Given the description of an element on the screen output the (x, y) to click on. 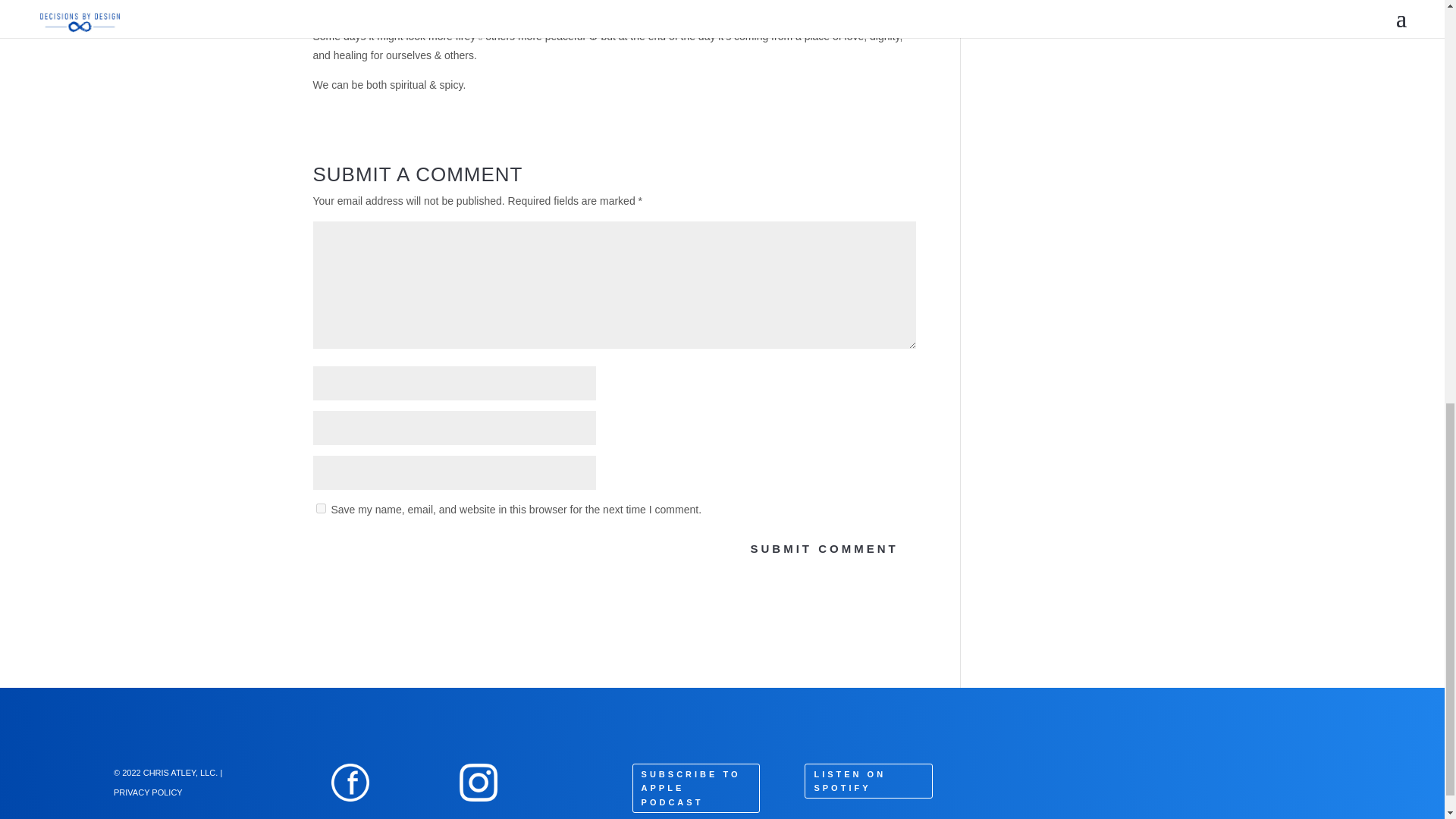
facebook copy (350, 782)
LISTEN ON SPOTIFY (868, 780)
Submit Comment (823, 548)
SUBSCRIBE TO APPLE PODCAST (695, 788)
Submit Comment (823, 548)
new-Instagram-logo-white-glyph-1536x1536 (478, 782)
PRIVACY POLICY (148, 791)
yes (319, 508)
